Given the description of an element on the screen output the (x, y) to click on. 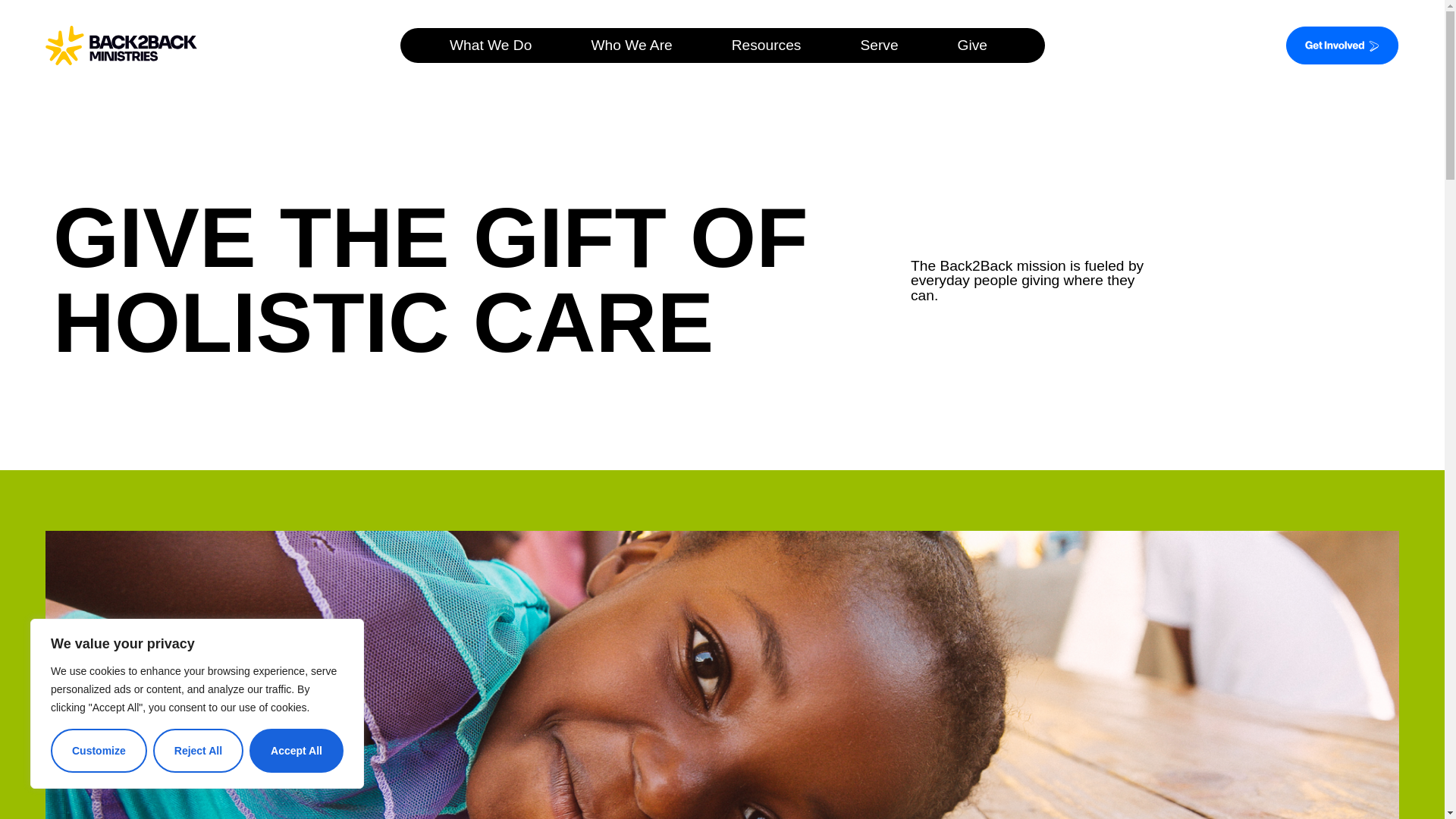
Customize (98, 750)
Serve (881, 44)
Resources (769, 44)
Who We Are (634, 44)
What We Do (494, 44)
Reject All (197, 750)
Accept All (295, 750)
